Given the description of an element on the screen output the (x, y) to click on. 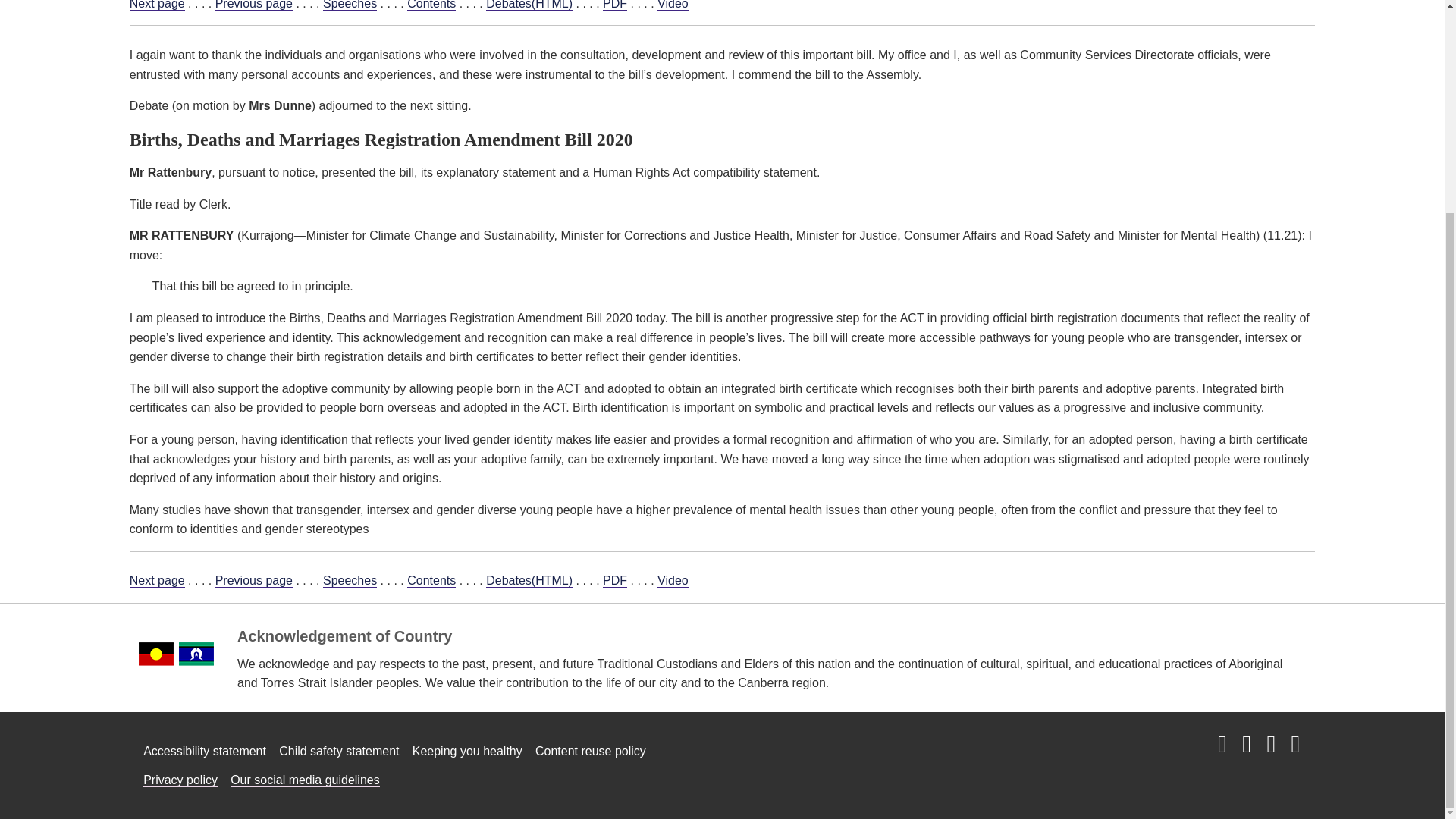
PDF (614, 581)
Link to Twitter (1270, 745)
Accessibility statement (204, 751)
Our social media guidelines (305, 780)
Read our access and inclusion statement (204, 751)
Video (673, 5)
Read our child safety committment (338, 751)
Next page (156, 5)
Read about how we're keeping our Assembly healthy (467, 751)
PDF (614, 5)
Read our content sharing and re-use policy (590, 751)
Contents (431, 5)
Keeping you healthy (467, 751)
Link to Facebook (1245, 745)
Read our social media guidelines (305, 780)
